Given the description of an element on the screen output the (x, y) to click on. 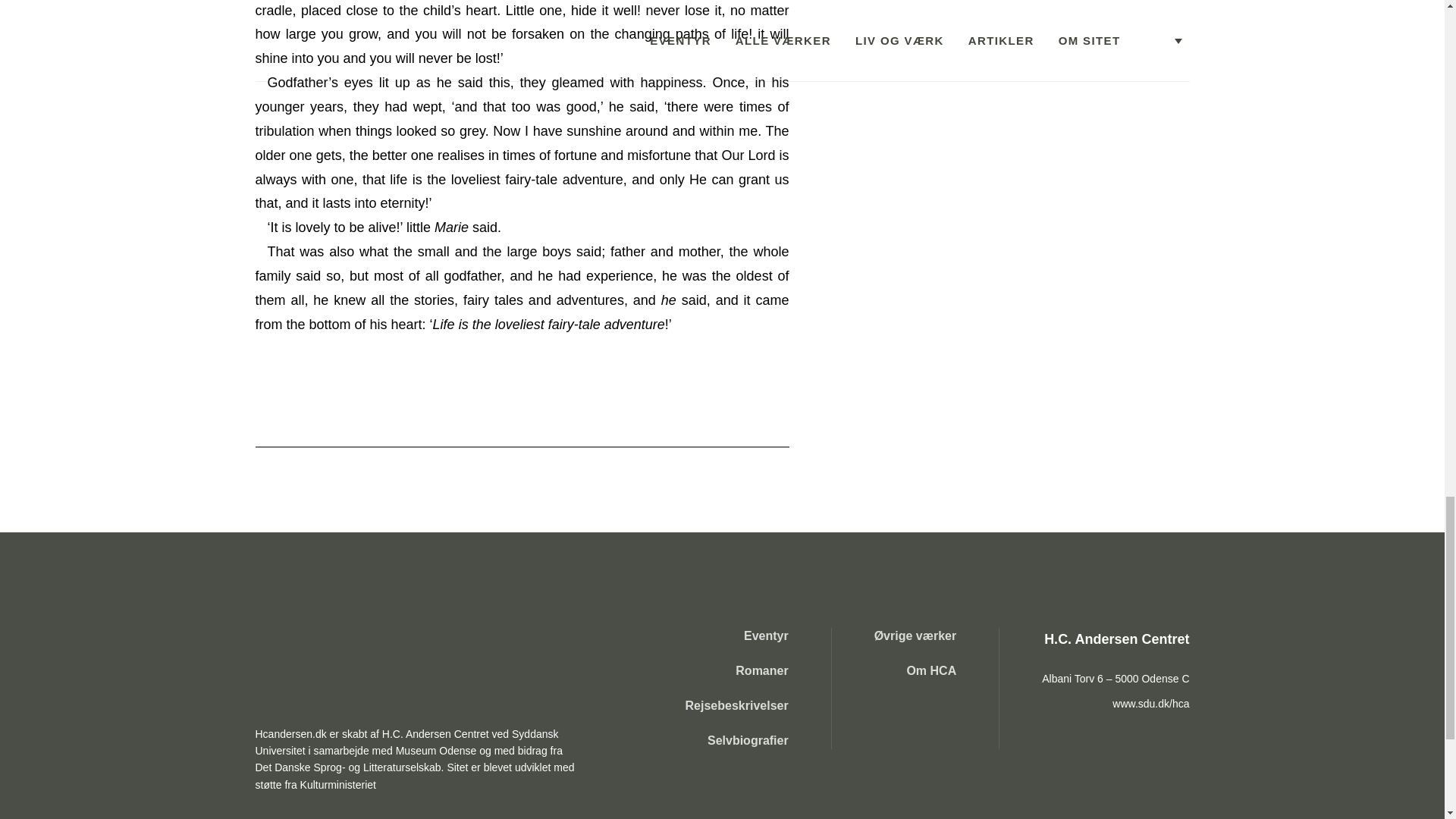
Eventyr (737, 636)
Selvbiografier (737, 740)
Om HCA (915, 670)
Romaner (737, 670)
Rejsebeskrivelser (737, 705)
